Given the description of an element on the screen output the (x, y) to click on. 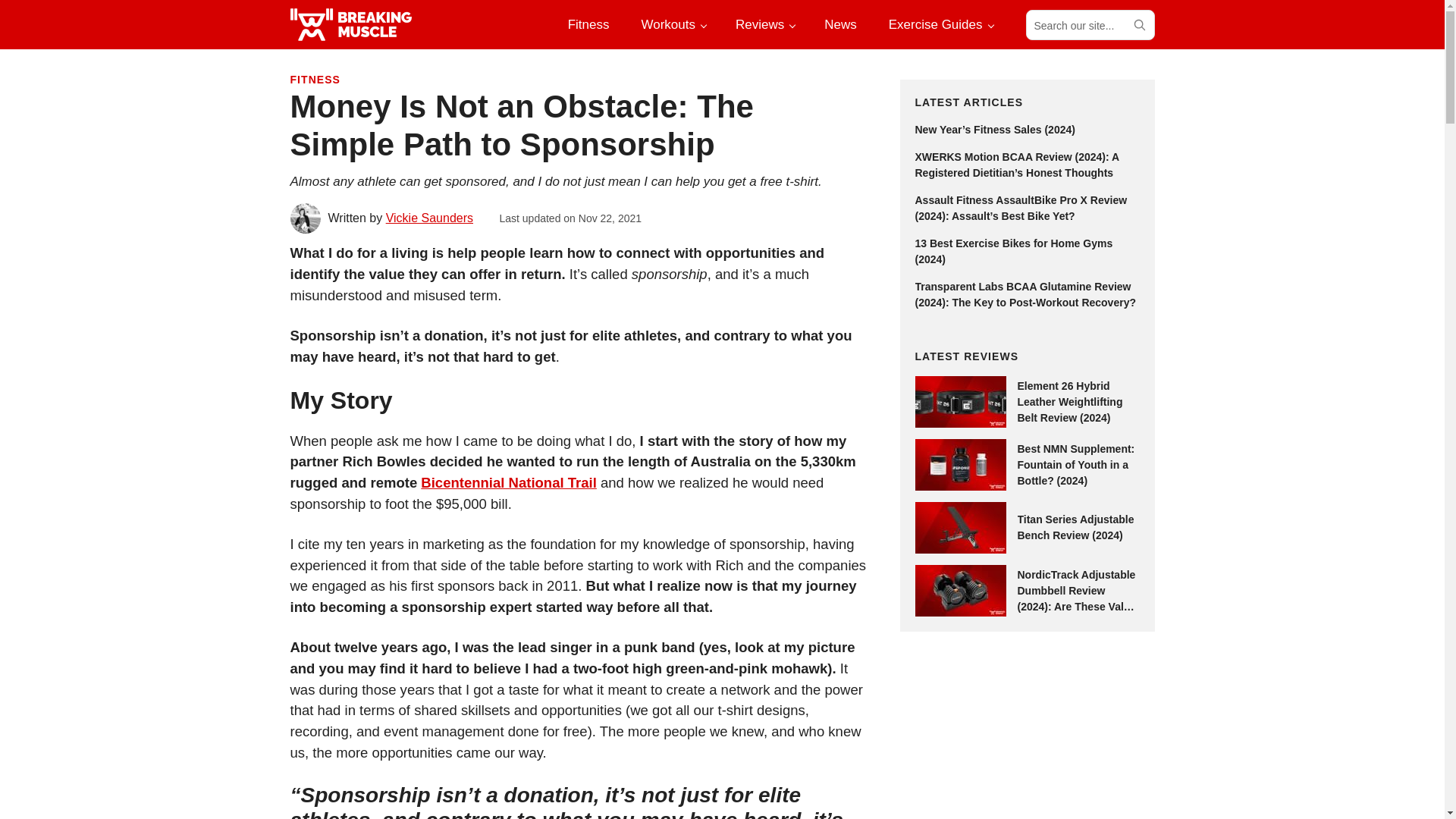
Workouts (672, 24)
Submit search (1138, 24)
Submit search (1138, 24)
Fitness (588, 24)
Reviews (764, 24)
